Given the description of an element on the screen output the (x, y) to click on. 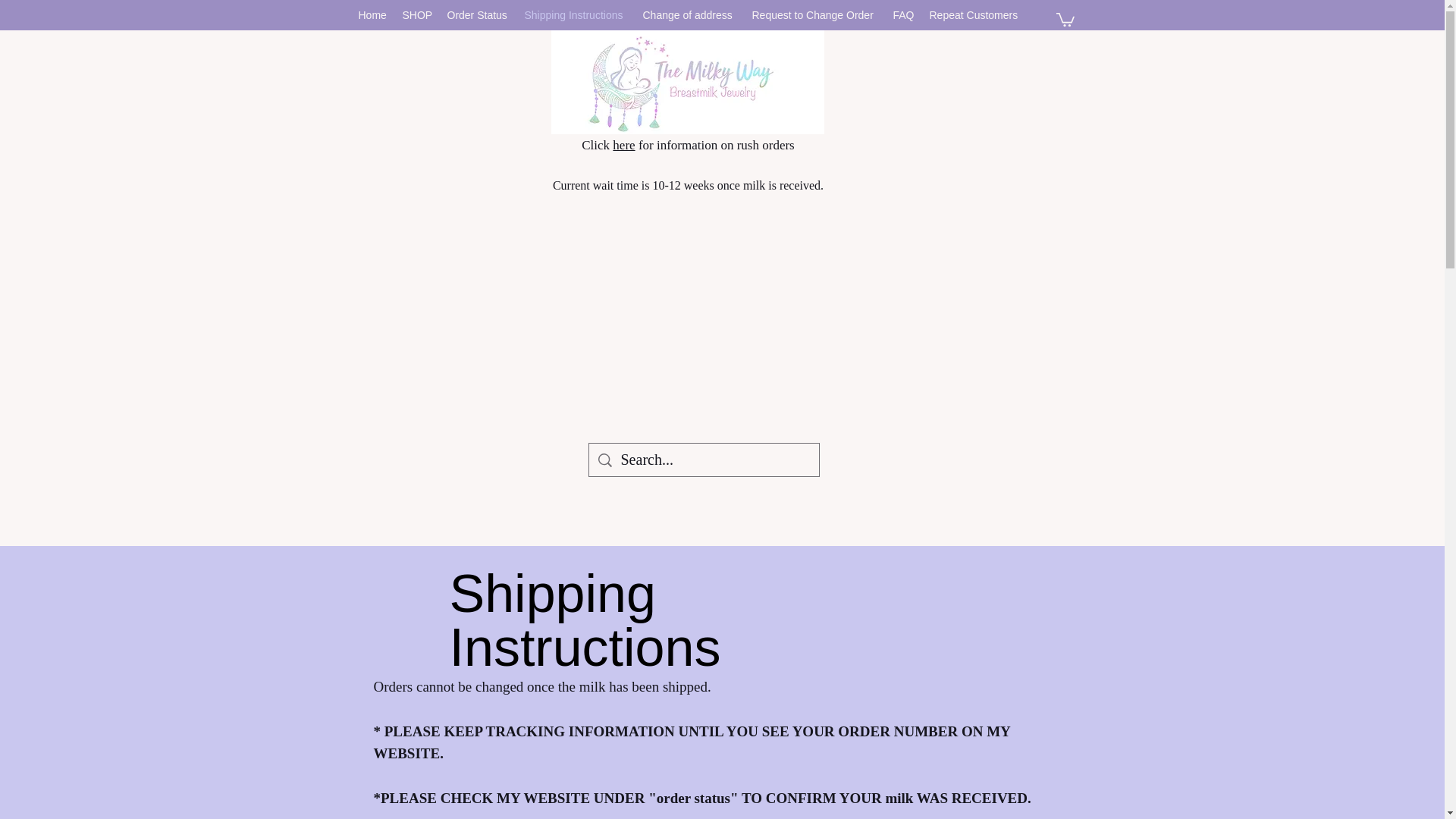
Order Status (477, 15)
Shipping Instructions (575, 15)
Facebook banner 3.jpg (687, 82)
Home (372, 15)
FAQ (903, 15)
Repeat Customers (974, 15)
here (623, 145)
Change of address (689, 15)
Request to Change Order (814, 15)
SHOP (416, 15)
